Given the description of an element on the screen output the (x, y) to click on. 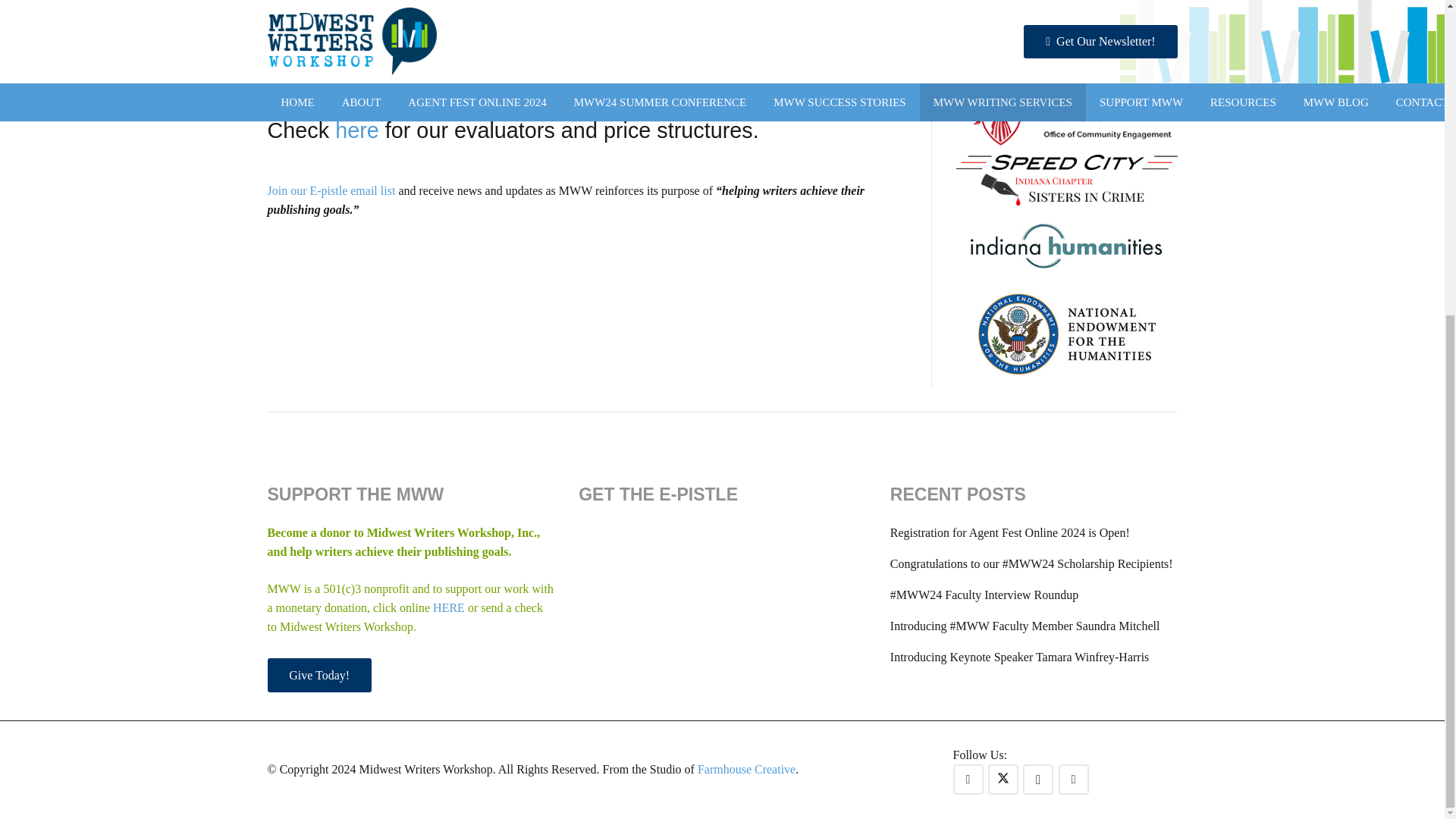
Instagram (1037, 779)
Support MWW (318, 675)
Facebook (967, 779)
YouTube (1073, 779)
Twitter (1002, 779)
